Given the description of an element on the screen output the (x, y) to click on. 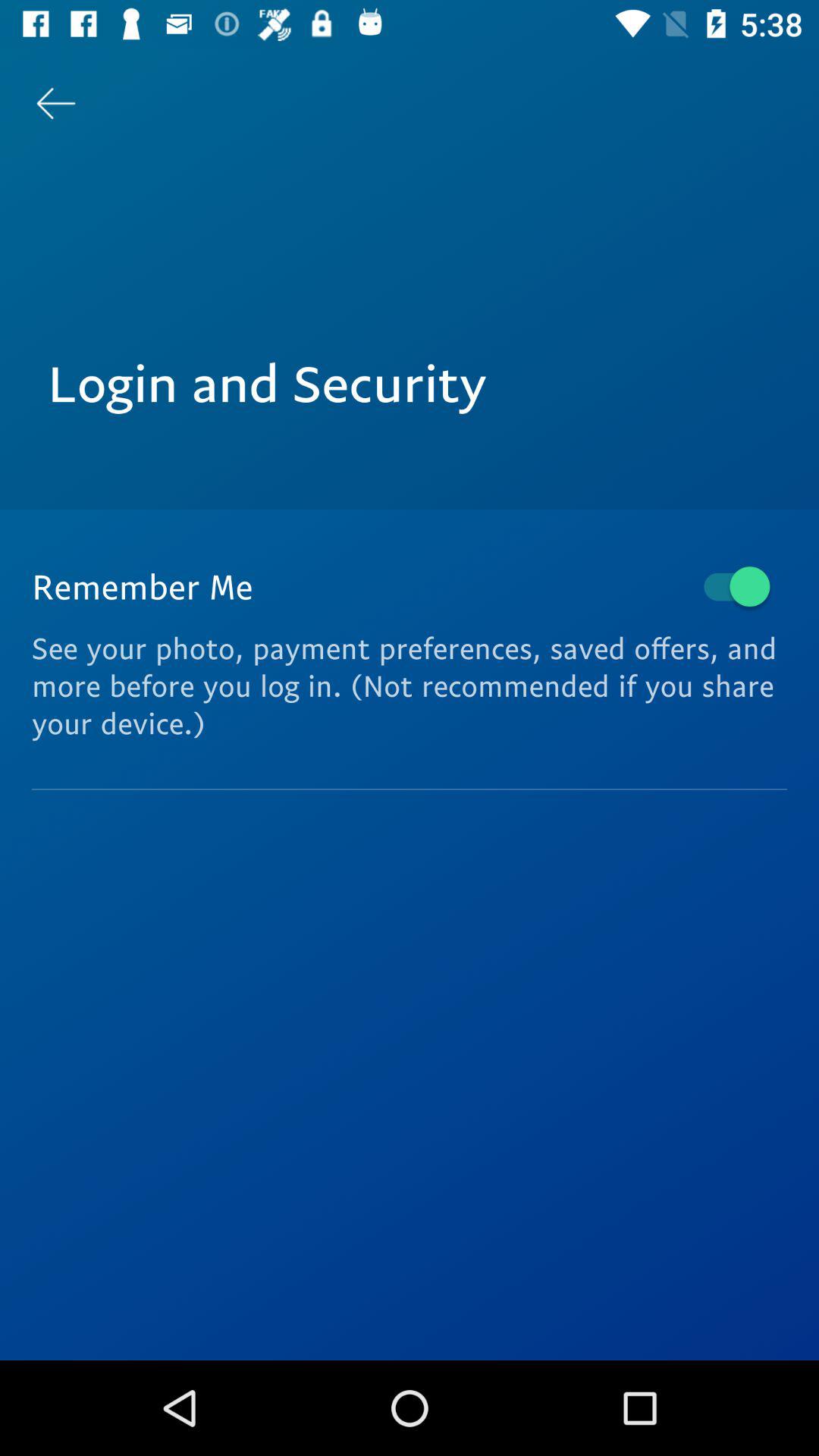
open item at the top left corner (55, 103)
